Given the description of an element on the screen output the (x, y) to click on. 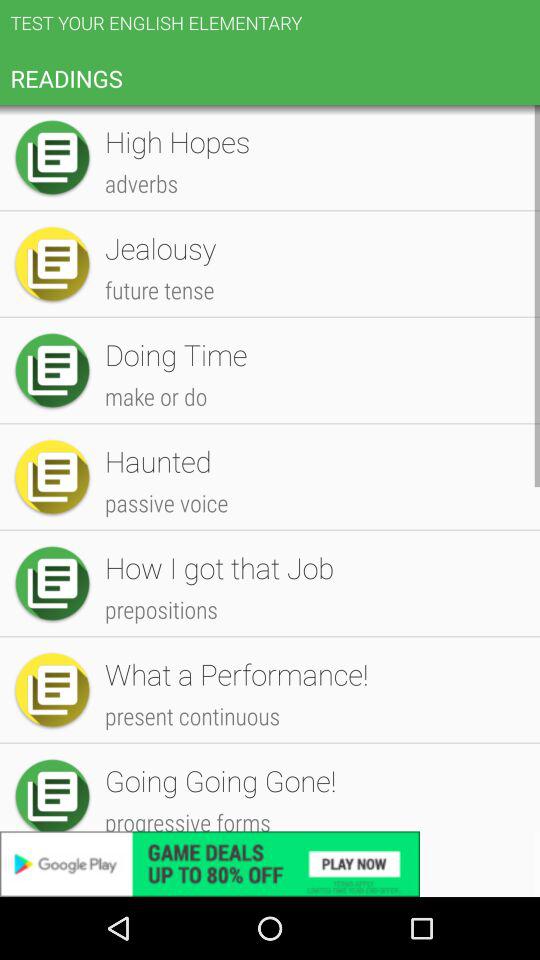
jump to the random test icon (311, 304)
